Given the description of an element on the screen output the (x, y) to click on. 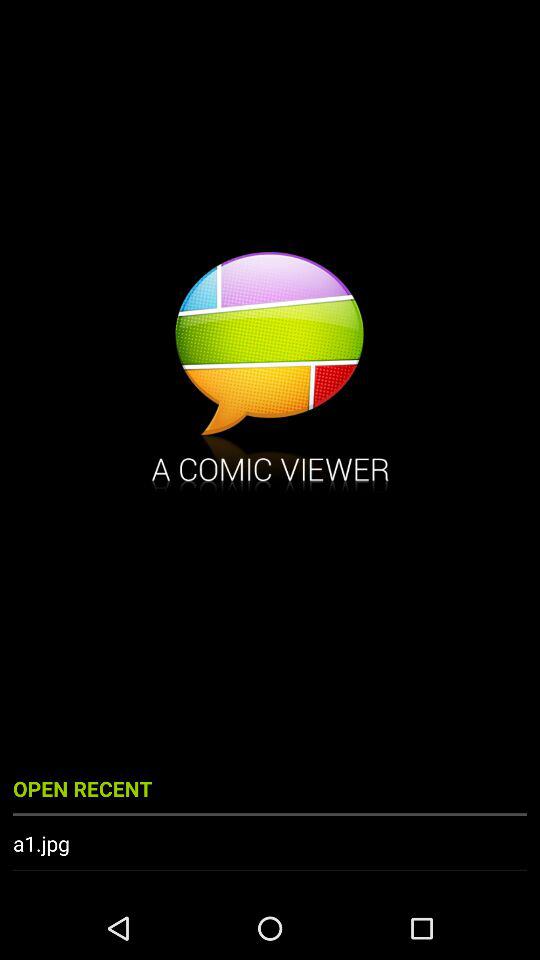
click icon above open recent (269, 373)
